Given the description of an element on the screen output the (x, y) to click on. 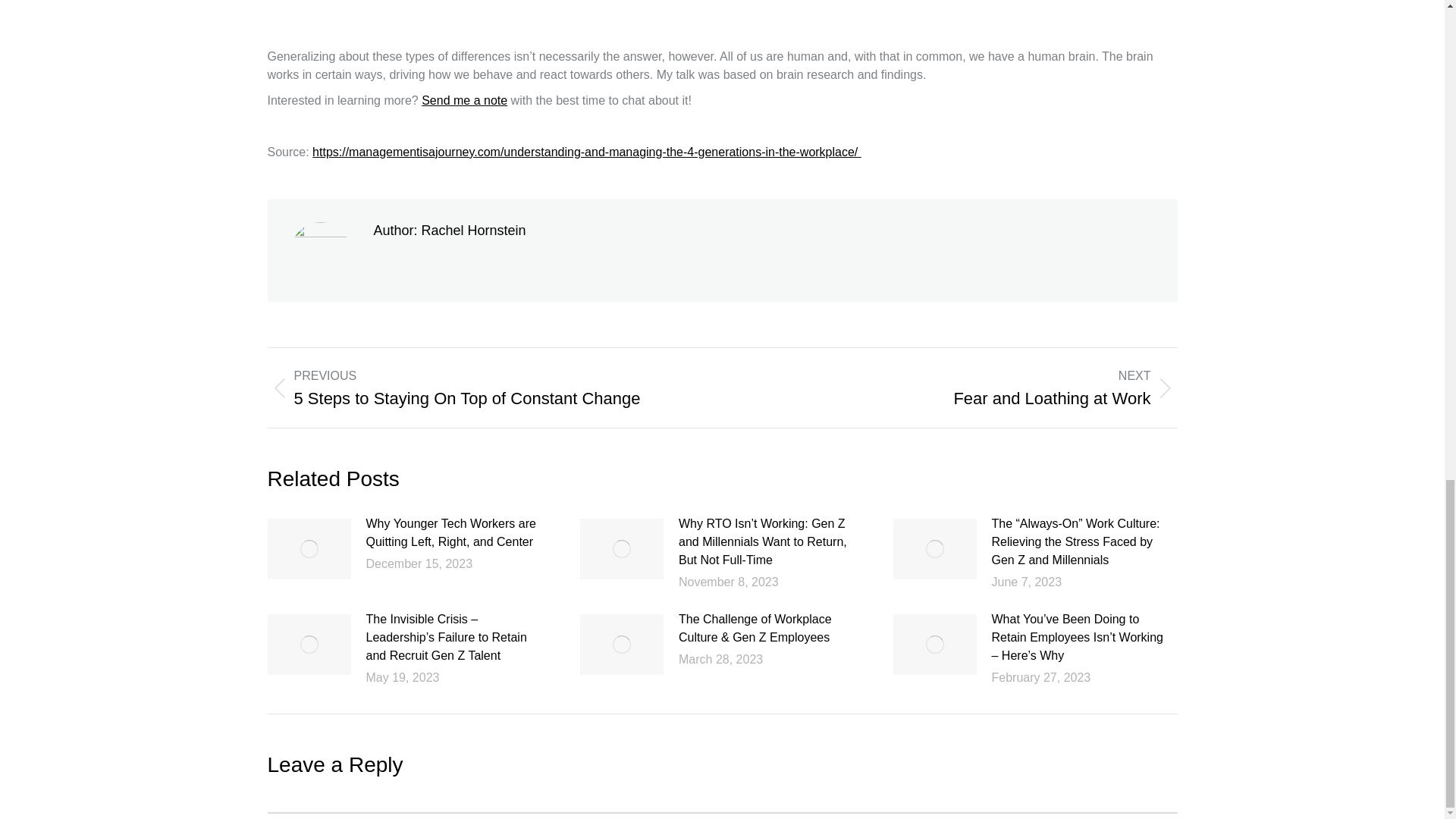
Send me a note (464, 100)
